Given the description of an element on the screen output the (x, y) to click on. 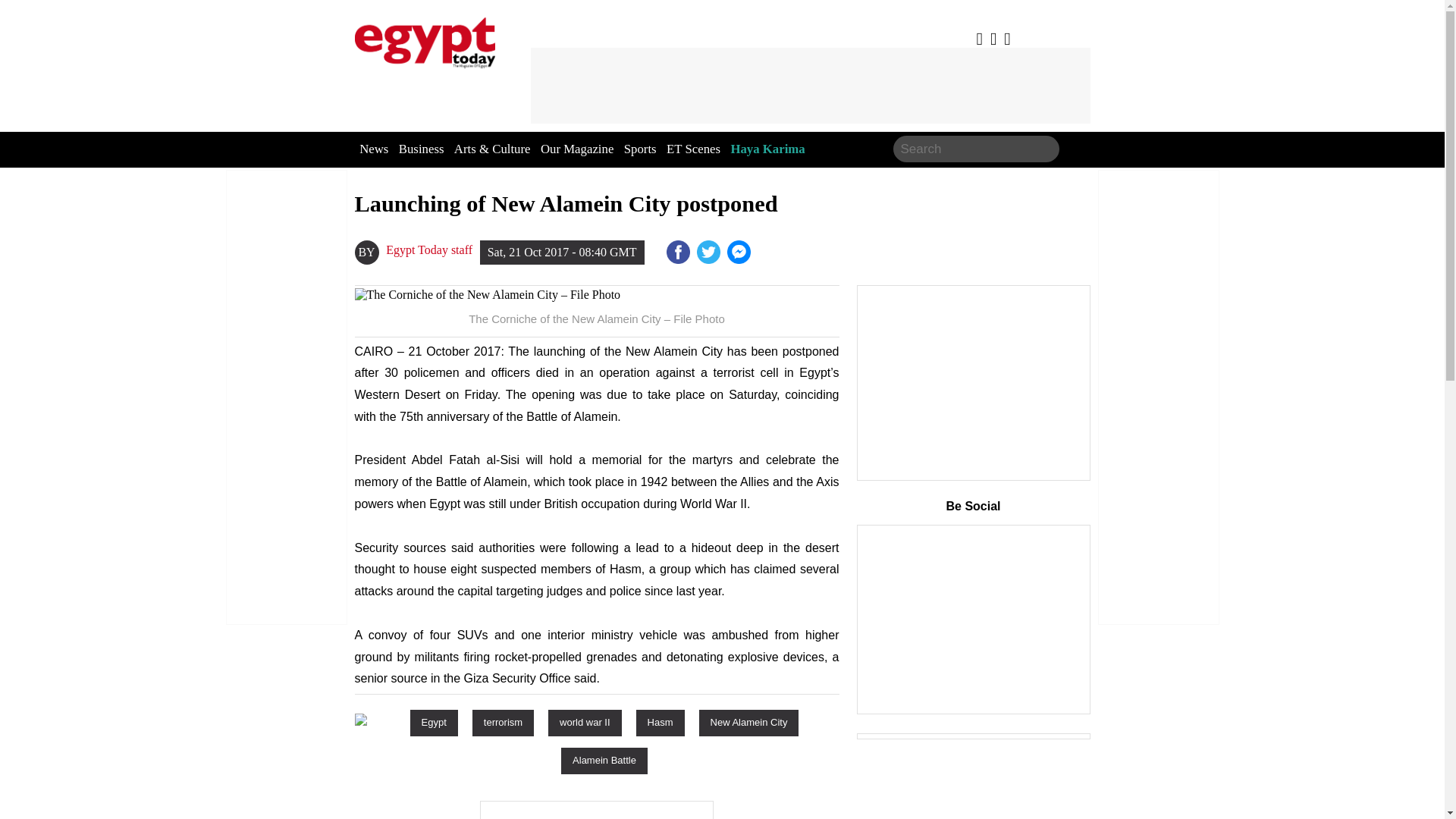
Haya Karima (767, 149)
world war II (584, 722)
Egypt (434, 722)
Business (421, 149)
ET Scenes (693, 149)
Sports (640, 149)
Hasm (660, 722)
Alamein Battle (603, 760)
Our Magazine (576, 149)
Egypt Today staff (428, 250)
